Given the description of an element on the screen output the (x, y) to click on. 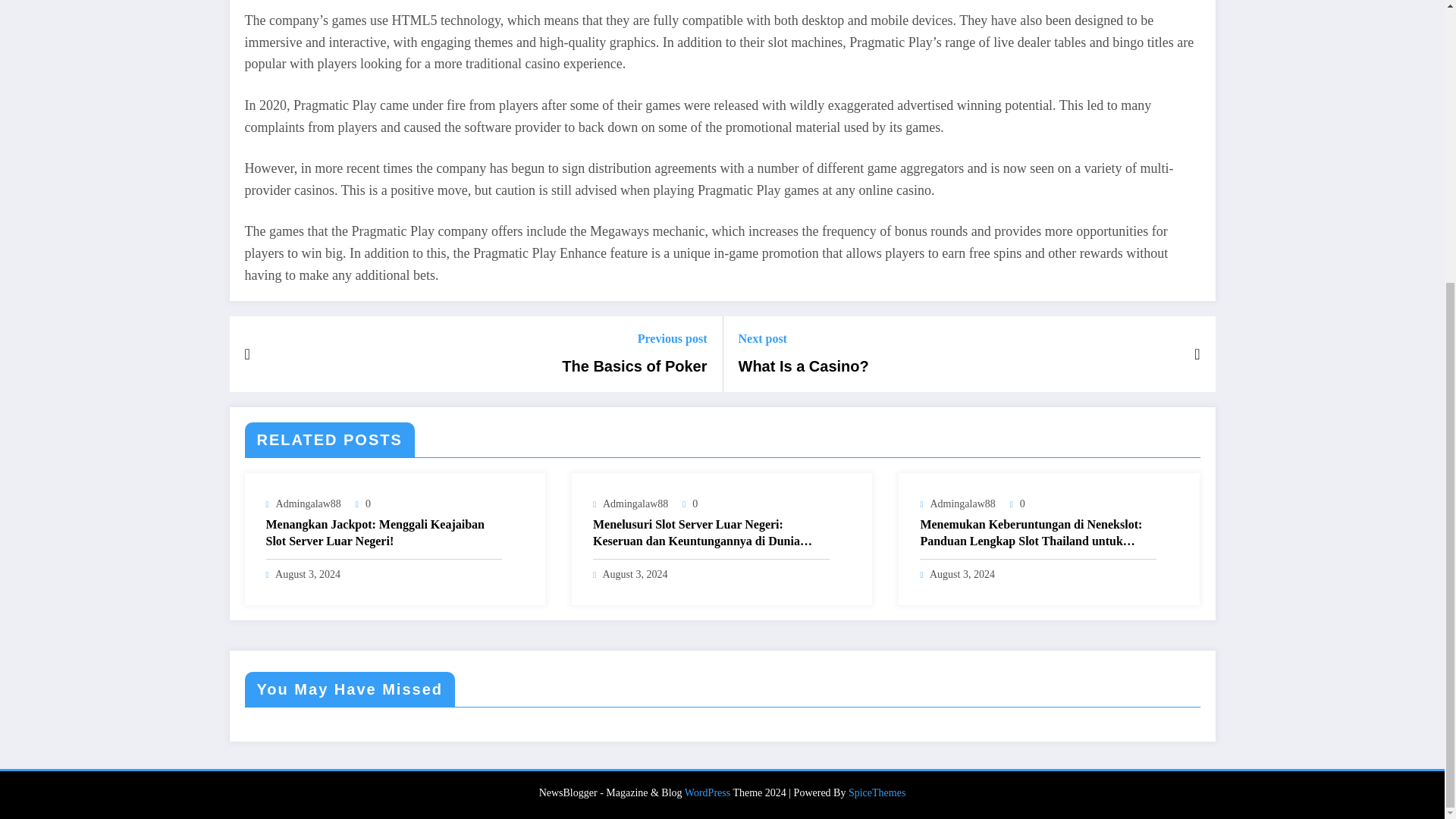
The Basics of Poker (634, 365)
Previous post (634, 338)
Admingalaw88 (635, 503)
Admingalaw88 (308, 503)
Next post (803, 338)
Admingalaw88 (962, 503)
August 3, 2024 (307, 573)
August 3, 2024 (634, 573)
What Is a Casino? (803, 365)
